Given the description of an element on the screen output the (x, y) to click on. 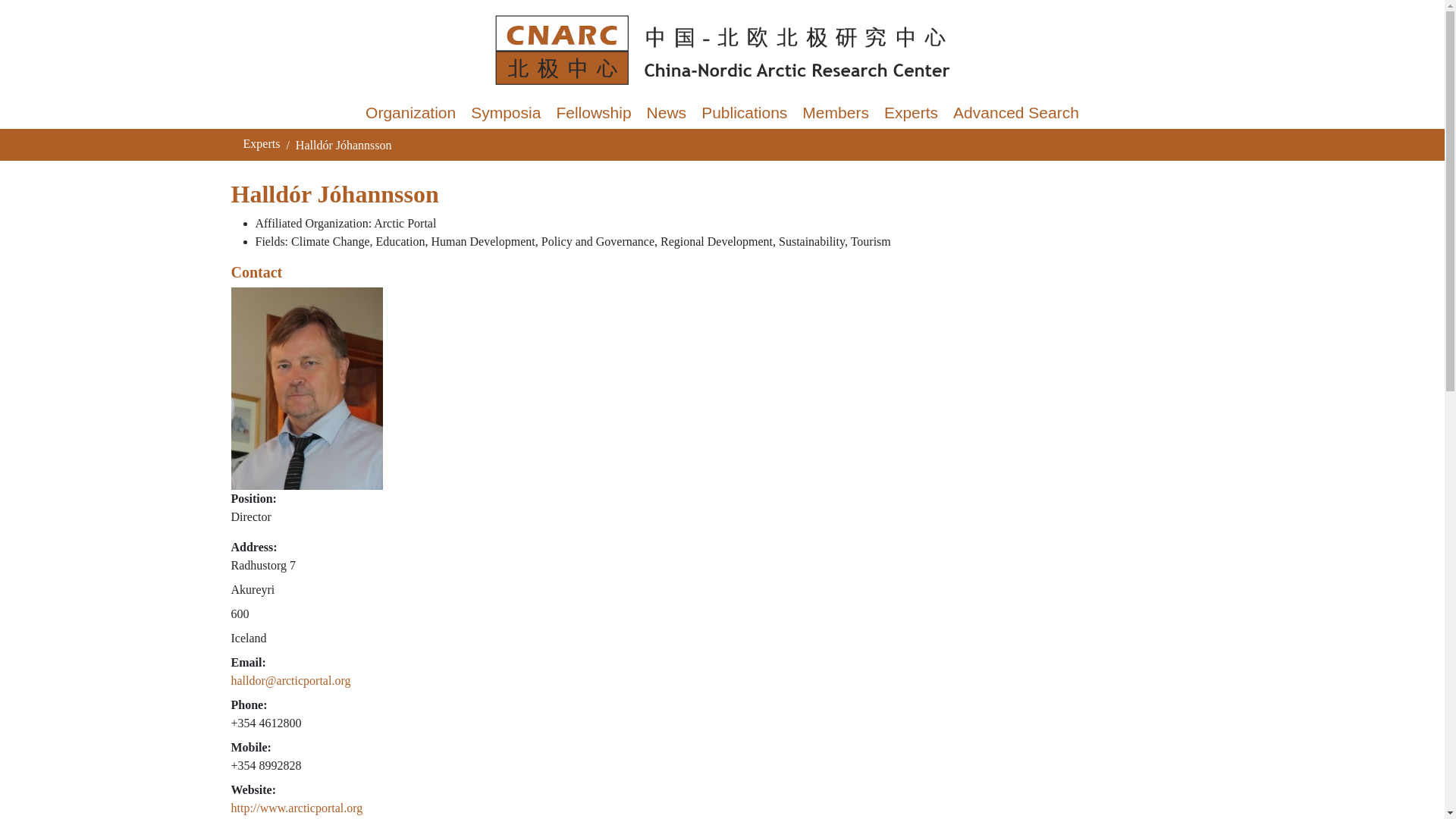
News (666, 112)
China-Nordic Arctic Research Center (721, 50)
Organization (410, 112)
Members (835, 112)
Fellowship (593, 112)
Symposia (505, 112)
Experts (261, 142)
Advanced Search (1015, 112)
Experts (910, 112)
Publications (744, 112)
